Given the description of an element on the screen output the (x, y) to click on. 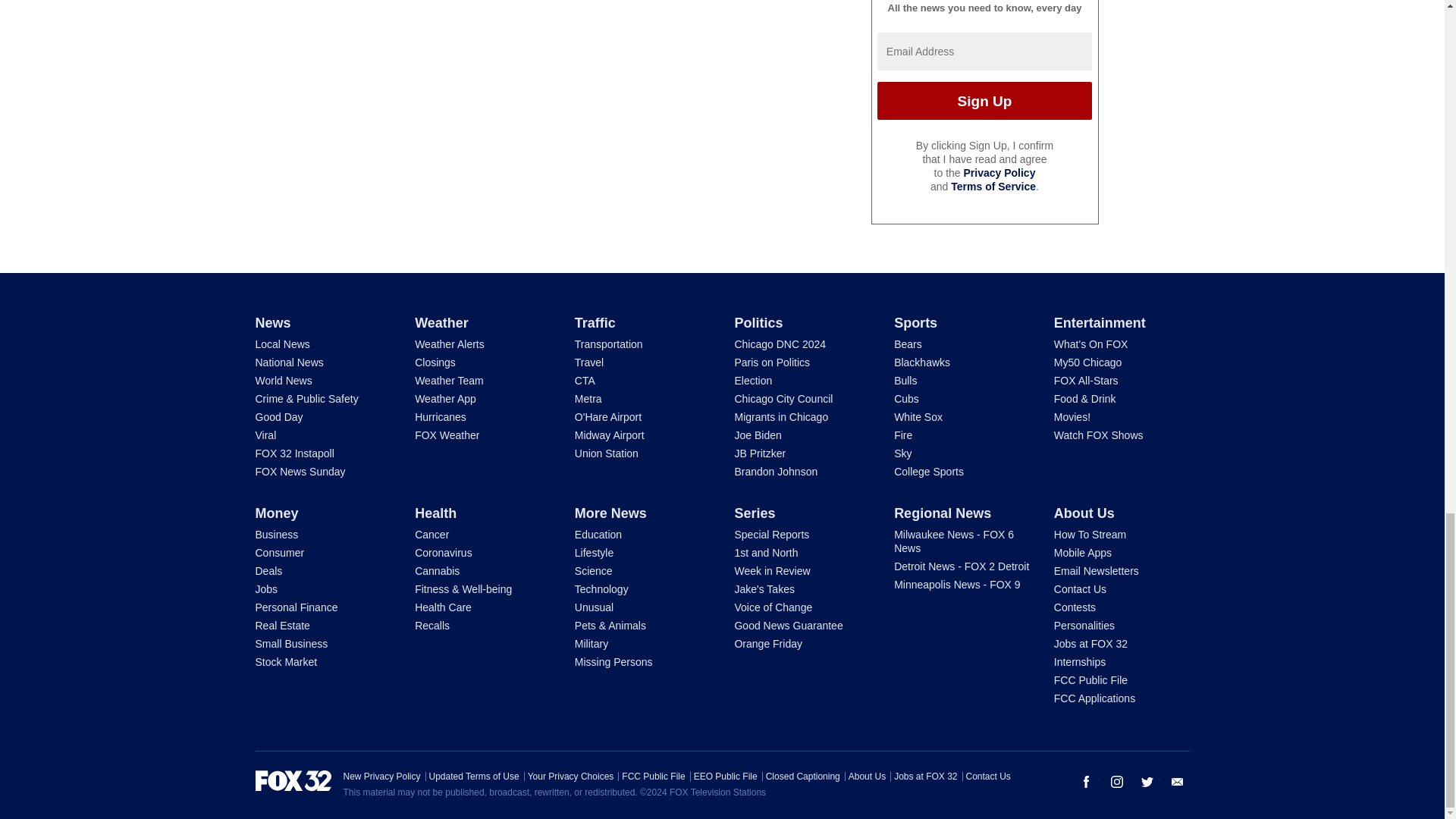
Sign Up (984, 100)
